Given the description of an element on the screen output the (x, y) to click on. 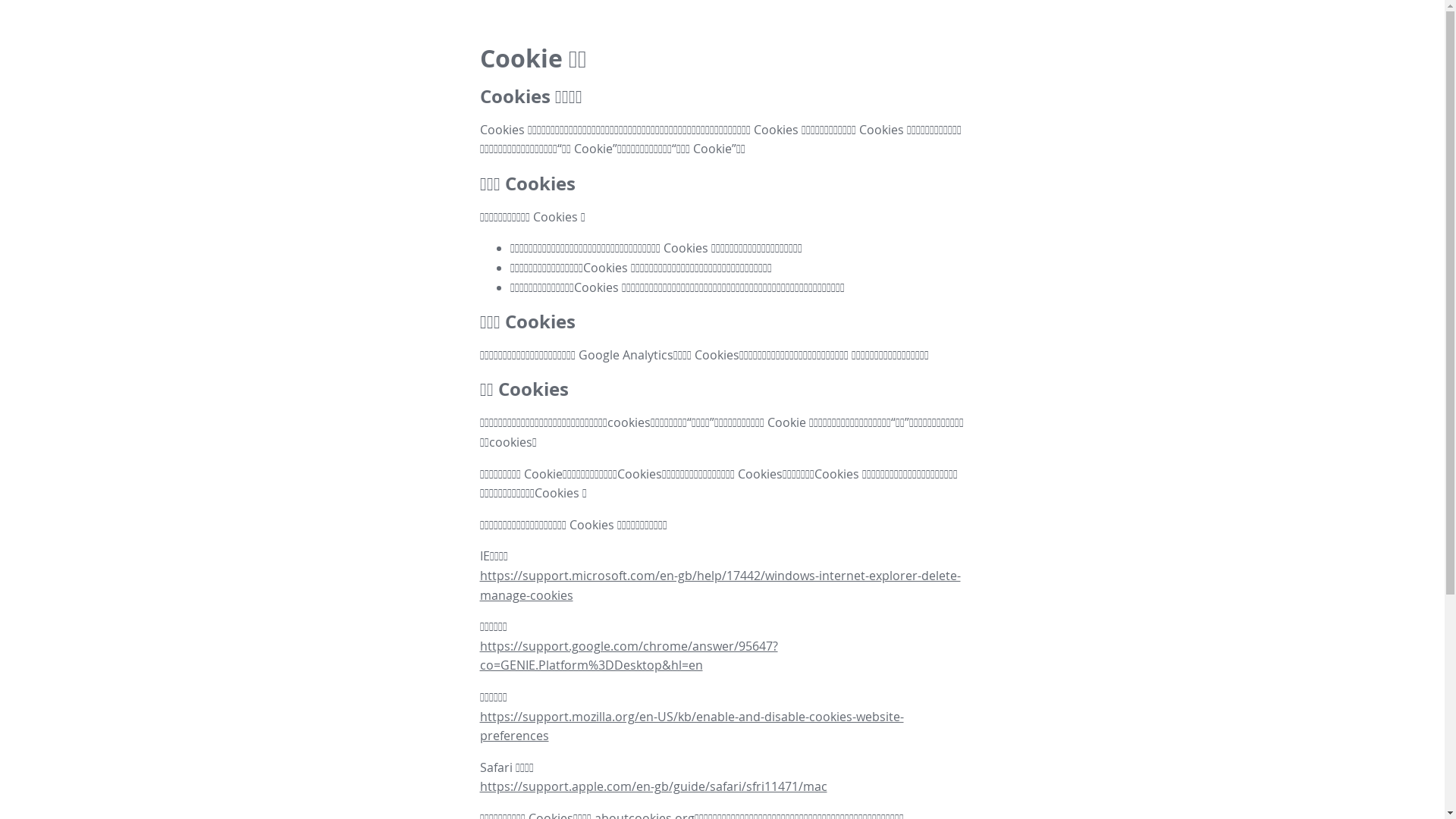
https://support.apple.com/en-gb/guide/safari/sfri11471/mac Element type: text (652, 786)
